Given the description of an element on the screen output the (x, y) to click on. 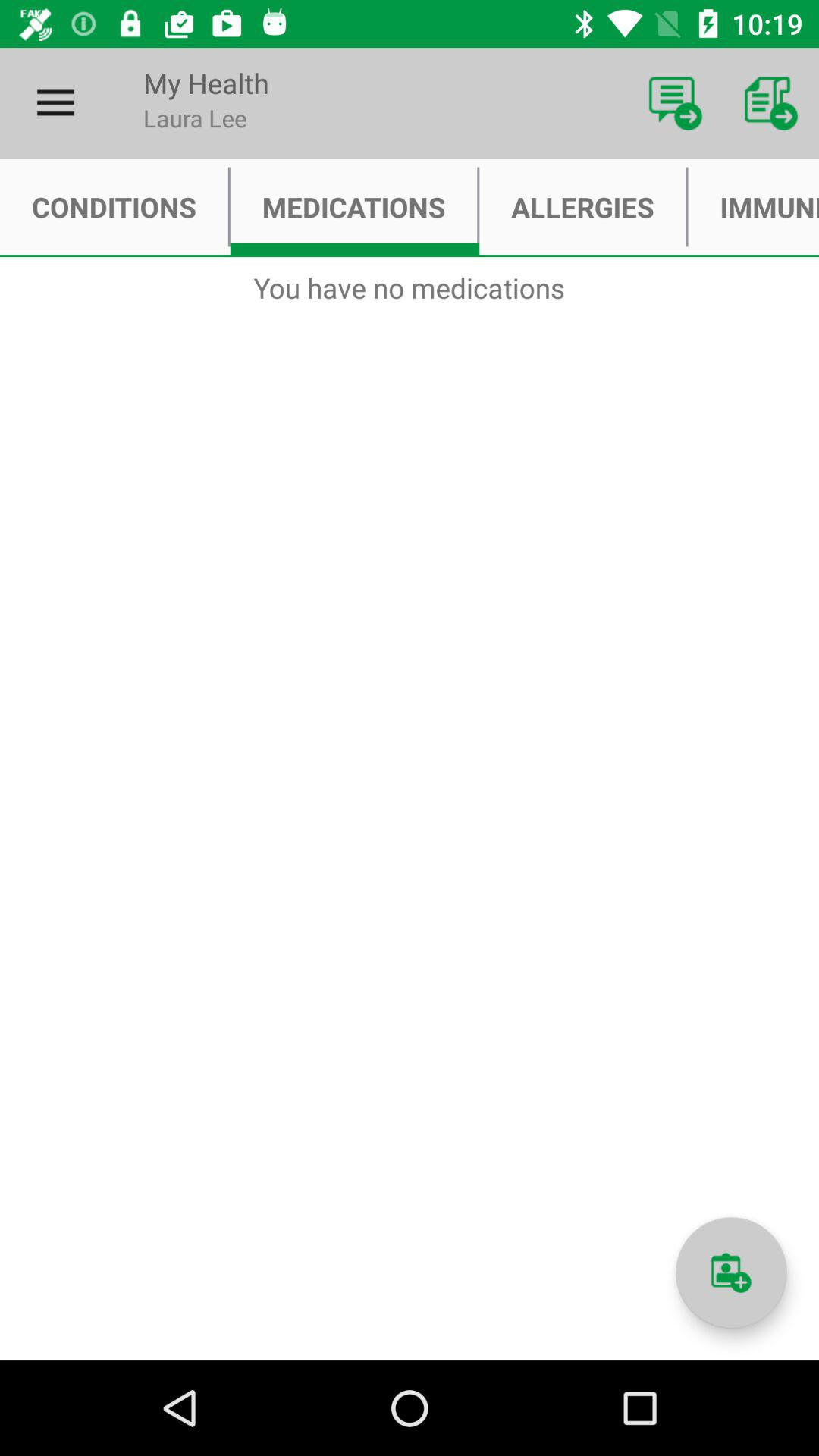
turn off item above conditions item (55, 103)
